Given the description of an element on the screen output the (x, y) to click on. 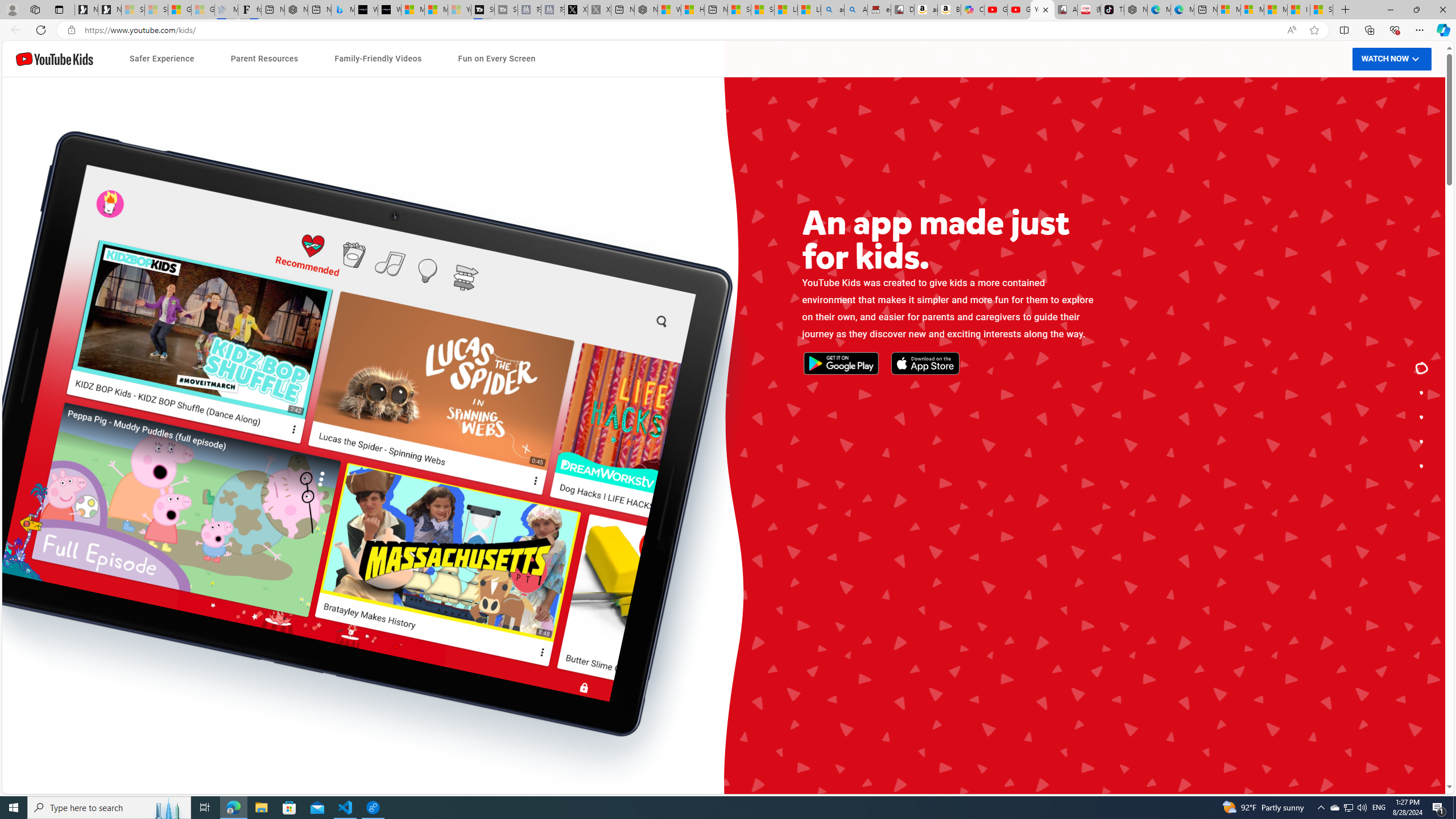
Family-Friendly Videos (378, 58)
CONTINUE EXPLORING (861, 443)
Class: ytk-dot-nav (1421, 417)
Download on the App Store (470, 432)
04Blocking (496, 550)
03Learning & Hobbies (950, 535)
Class: ytk__arrow-link-icon ytk-desktop-up-only-inline (914, 442)
Class: ytk-dot-nav__circle (1421, 465)
Fun on Every Screen (496, 58)
WATCH NOW (1391, 58)
